Given the description of an element on the screen output the (x, y) to click on. 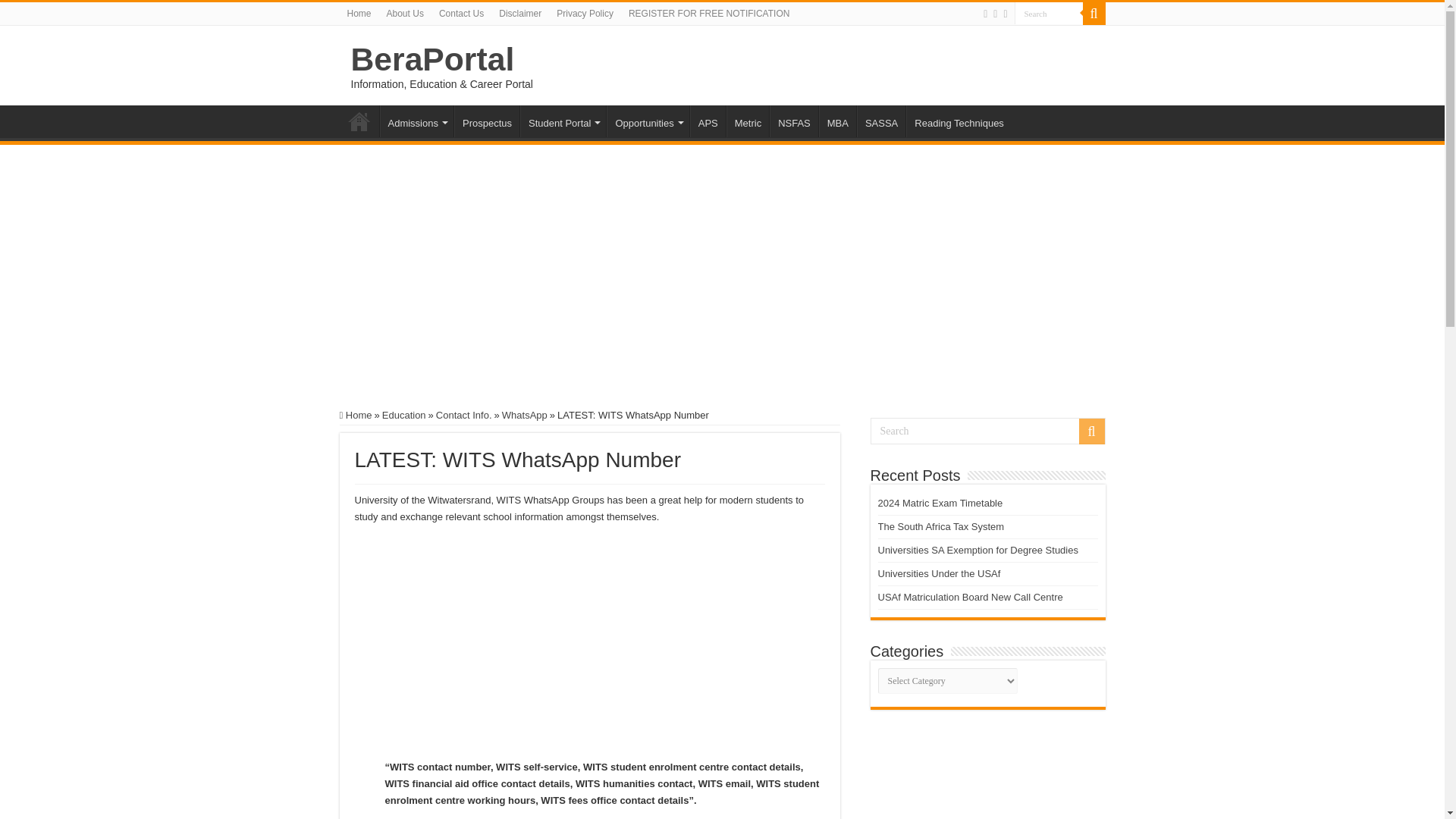
Search (1048, 13)
Search (987, 430)
Search (1048, 13)
Search (1048, 13)
Advertisement (590, 646)
